Given the description of an element on the screen output the (x, y) to click on. 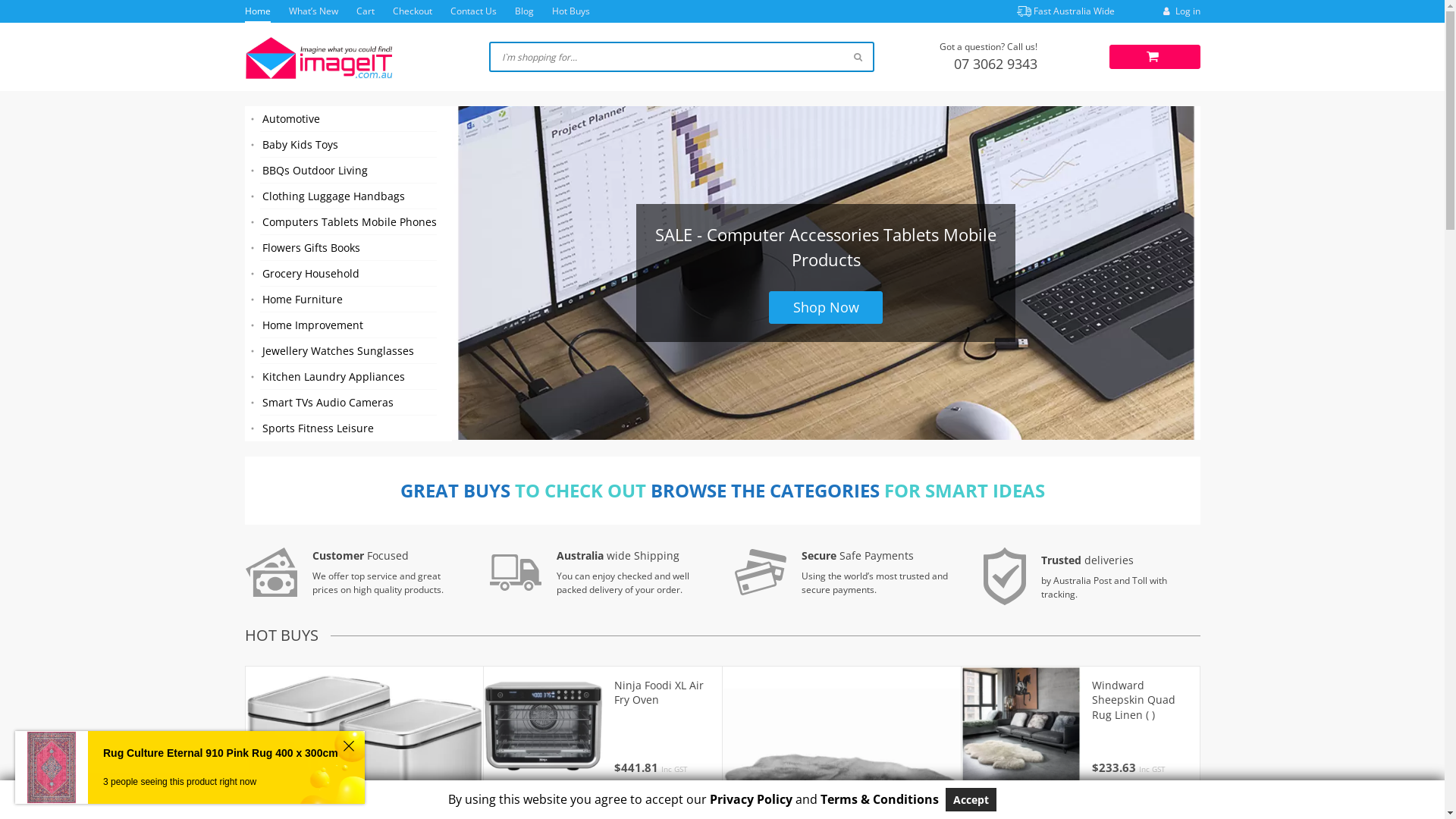
Accept Element type: text (970, 799)
Shop Now Element type: text (825, 307)
Jewellery Watches Sunglasses Element type: text (347, 351)
Blog Element type: text (523, 11)
Checkout Element type: text (412, 11)
Privacy Policy Element type: text (750, 798)
Flowers Gifts Books Element type: text (347, 247)
Cart Element type: text (365, 11)
Smart TVs Audio Cameras Element type: text (347, 402)
Grocery Household Element type: text (347, 273)
Ninja Foodi XL Air Fry Oven
$441.81 Inc GST Element type: text (662, 725)
Clothing Luggage Handbags Element type: text (347, 196)
Sports Fitness Leisure Element type: text (347, 428)
Home Improvement Element type: text (347, 325)
Windward Sheepskin Quad Rug Linen ( )
$233.63 Inc GST Element type: text (1140, 725)
Home Element type: text (256, 11)
Home Furniture Element type: text (347, 299)
BBQs Outdoor Living Element type: text (347, 170)
Kitchen Laundry Appliances Element type: text (347, 376)
Automotive Element type: text (347, 118)
Hot Buys Element type: text (570, 11)
Log in Element type: text (1180, 10)
Terms & Conditions Element type: text (879, 798)
Baby Kids Toys Element type: text (347, 144)
Computers Tablets Mobile Phones Element type: text (347, 222)
Rug Culture Eternal 910 Pink Rug 400 x 300cm Element type: text (220, 752)
Contact Us Element type: text (473, 11)
